Given the description of an element on the screen output the (x, y) to click on. 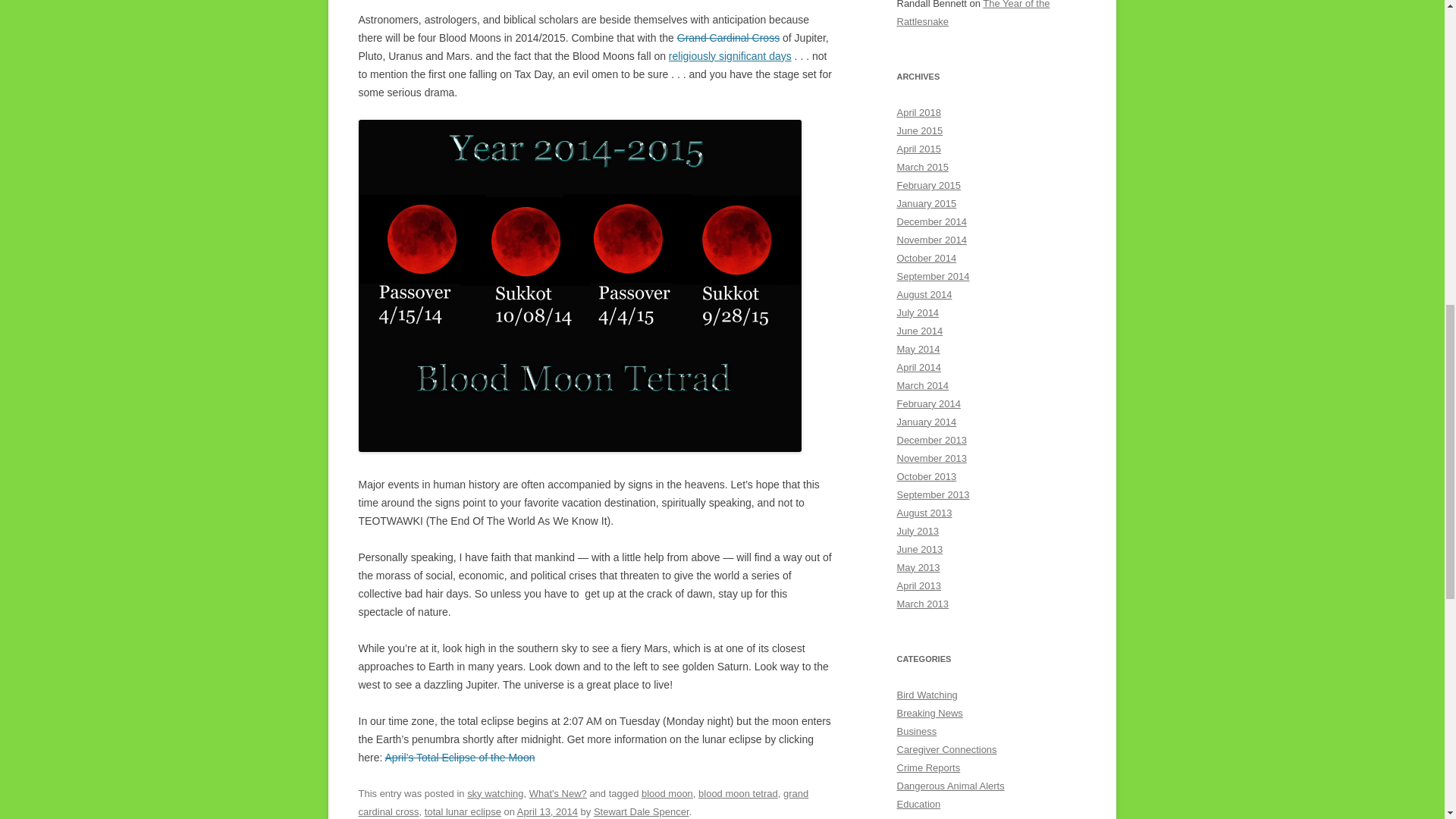
Stewart Dale Spencer (641, 811)
blood moon (667, 793)
View all posts by Stewart Dale Spencer (641, 811)
total lunar eclipse (462, 811)
religiously significant days (730, 55)
What's New? (557, 793)
1:52 am (547, 811)
April 2015 (918, 148)
March 2015 (922, 166)
April 13, 2014 (547, 811)
June 2015 (919, 130)
April 2018 (918, 112)
The Year of the Rattlesnake (972, 13)
sky watching (494, 793)
blood moon tetrad (737, 793)
